Given the description of an element on the screen output the (x, y) to click on. 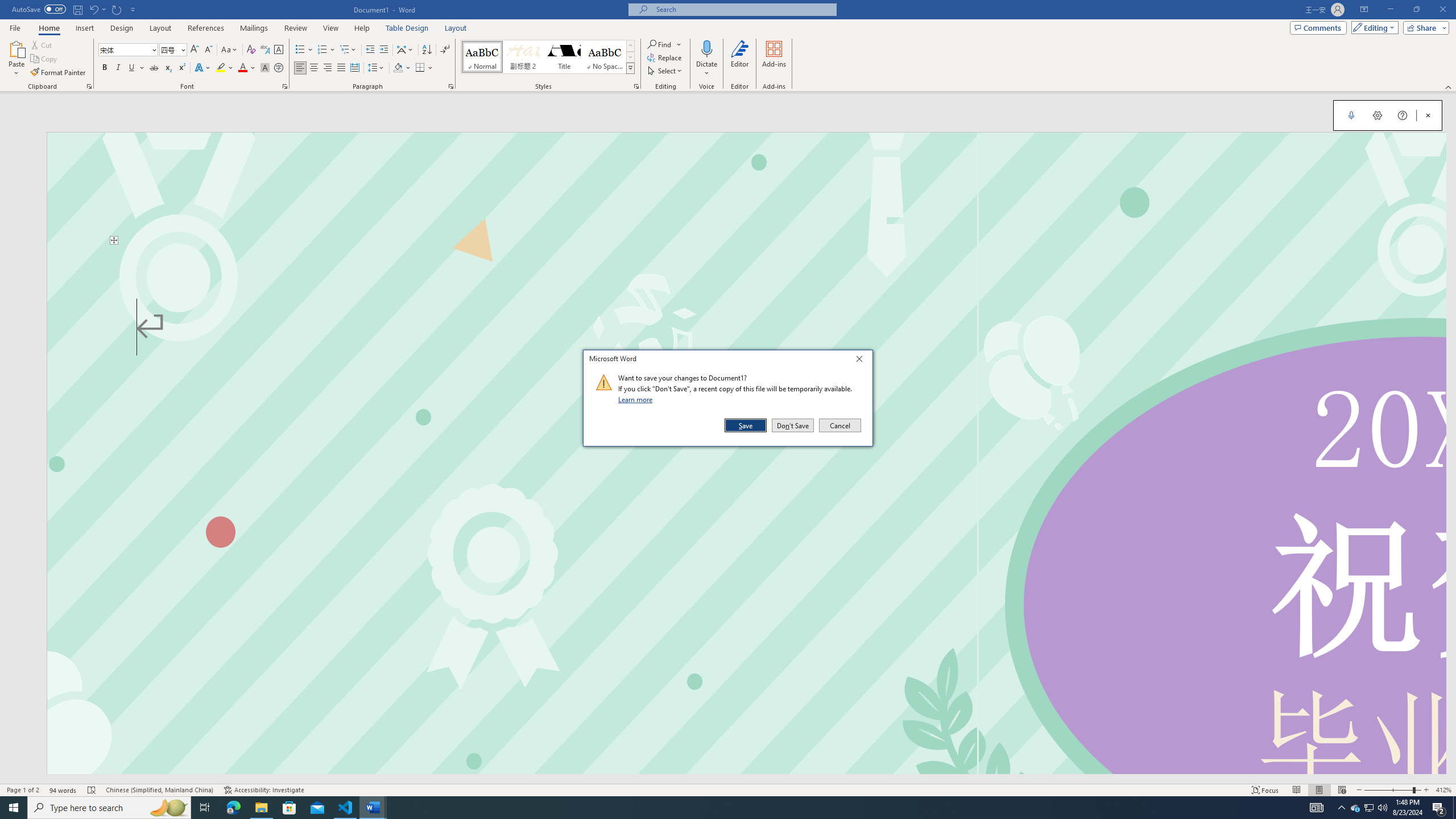
Dictation Settings (1377, 115)
Word Count 94 words (63, 790)
Q2790: 100% (1382, 807)
Select (665, 69)
Search highlights icon opens search home window (167, 807)
First Page Header -Section 1- (745, 187)
